Given the description of an element on the screen output the (x, y) to click on. 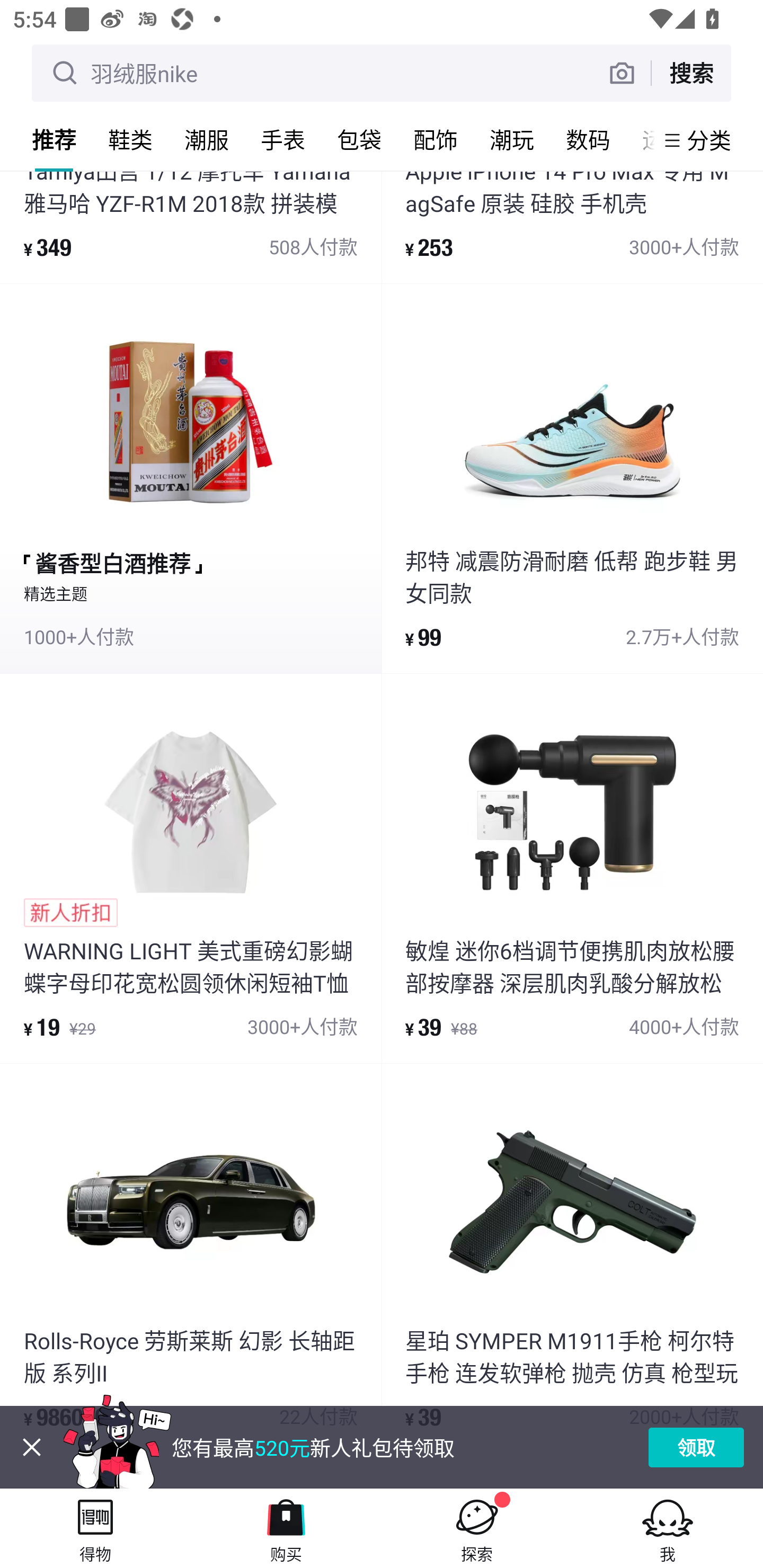
搜索 (690, 72)
推荐 (54, 139)
鞋类 (130, 139)
潮服 (206, 139)
手表 (282, 139)
包袋 (359, 139)
配饰 (435, 139)
潮玩 (511, 139)
数码 (588, 139)
分类 (708, 139)
酱香型白酒推荐 精选主题 1000+人付款 (190, 477)
product_item 邦特 减震防滑耐磨 低帮 跑步鞋 男
女同款 ¥ 99 2.7万+人付款 (572, 477)
领取 (695, 1446)
得物 (95, 1528)
购买 (285, 1528)
探索 (476, 1528)
我 (667, 1528)
